Given the description of an element on the screen output the (x, y) to click on. 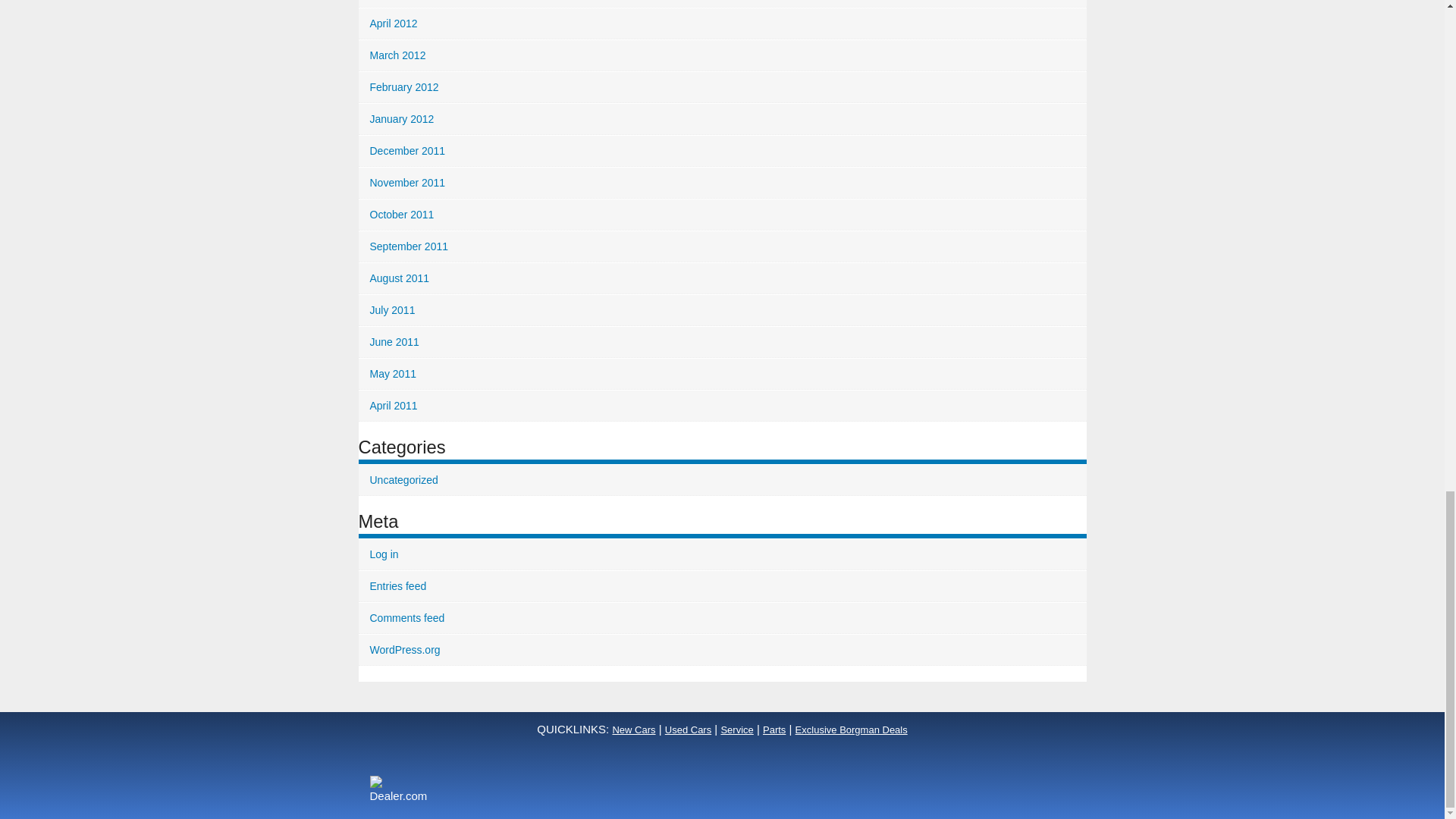
March 2012 (722, 55)
December 2011 (722, 151)
November 2011 (722, 183)
January 2012 (722, 119)
February 2012 (722, 87)
April 2012 (722, 23)
